Given the description of an element on the screen output the (x, y) to click on. 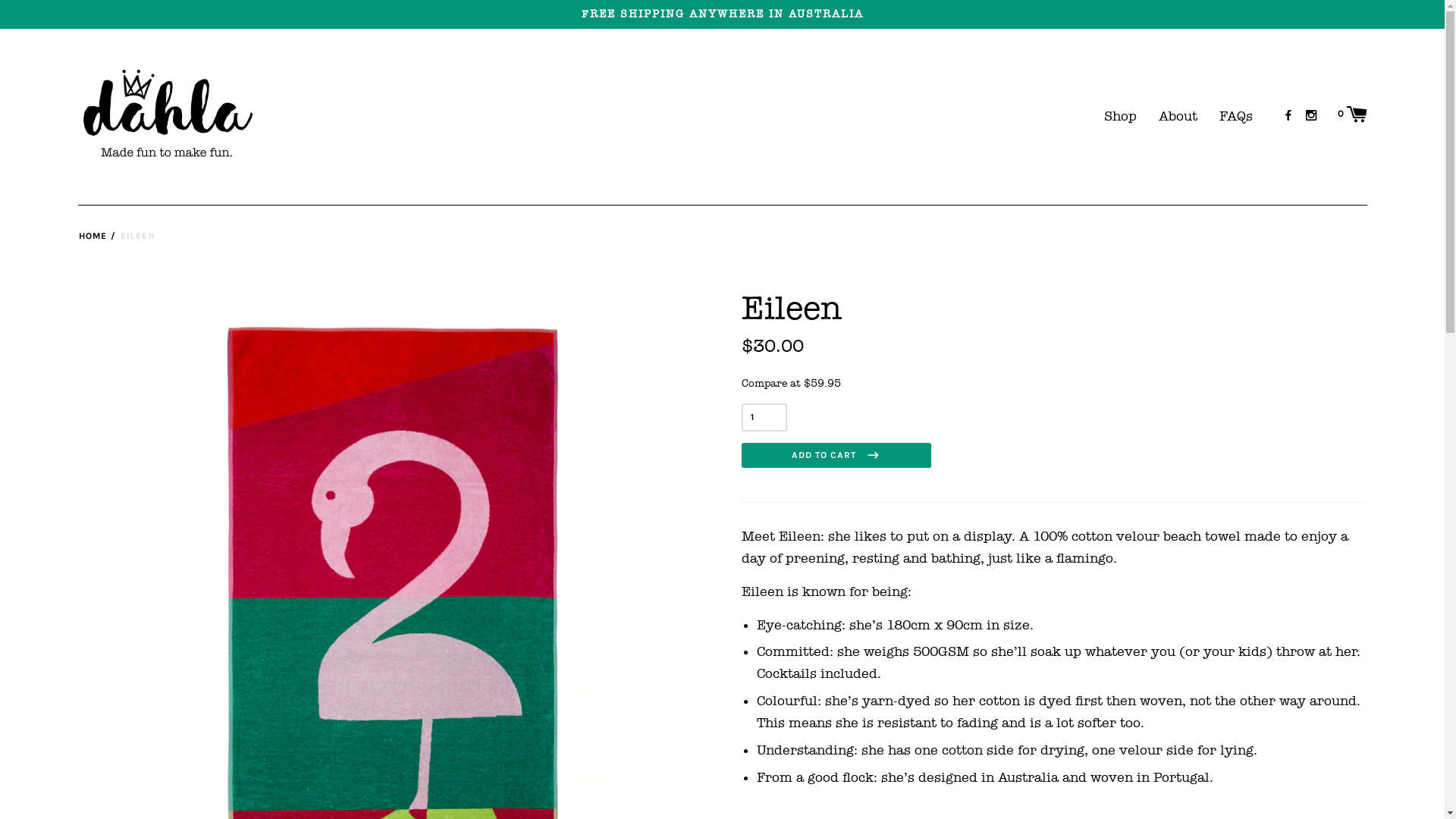
Dahla  on Facebook Element type: hover (1288, 115)
HOME Element type: text (92, 236)
FAQs Element type: text (1238, 116)
About Element type: text (1180, 116)
Dahla  on Instagram Element type: hover (1310, 115)
0 Element type: text (1352, 114)
ADD TO CART Element type: text (836, 454)
Shop Element type: text (1123, 116)
